Given the description of an element on the screen output the (x, y) to click on. 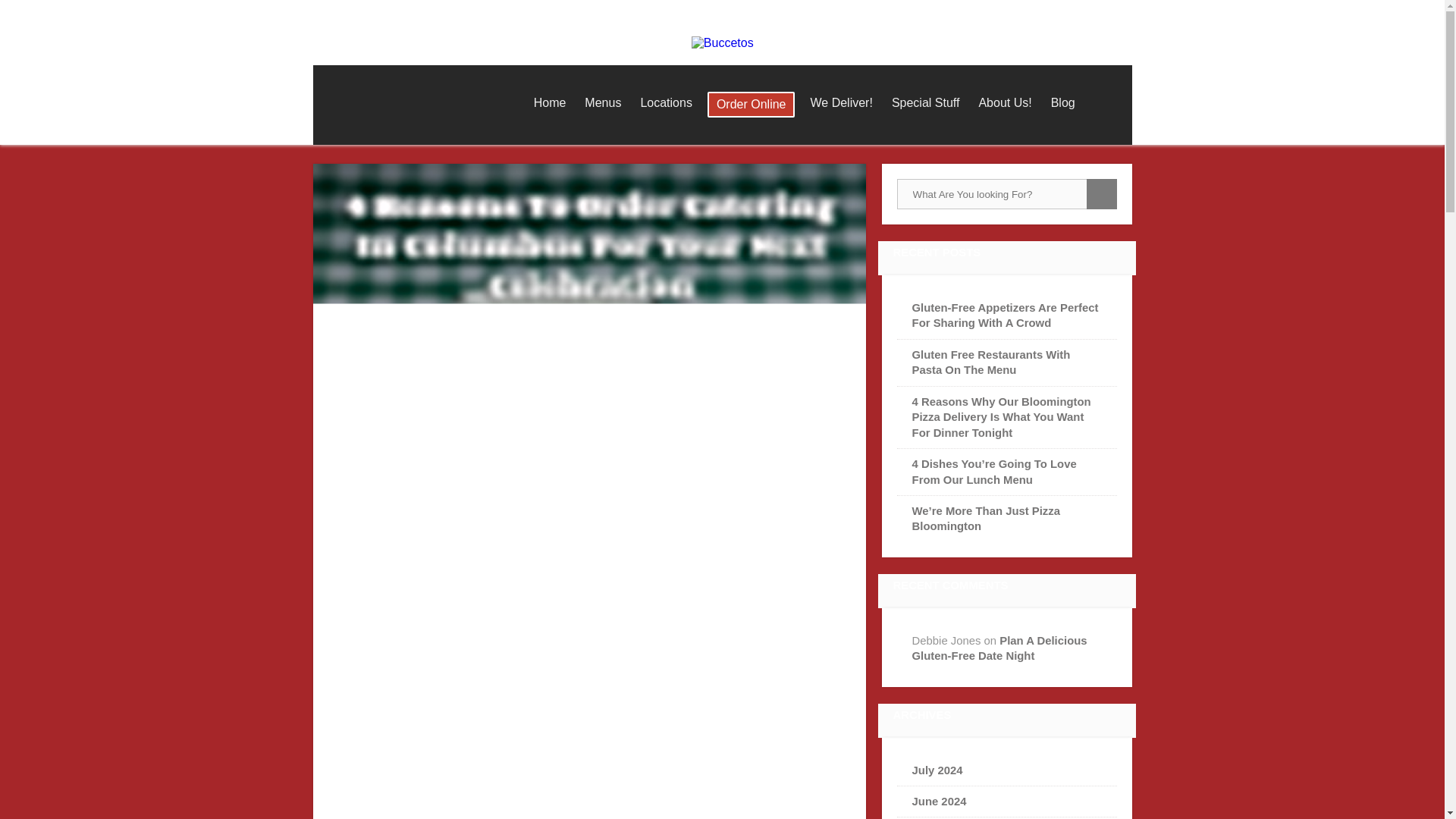
About Us! (1005, 102)
Gluten-Free Appetizers Are Perfect For Sharing With A Crowd (1005, 315)
Order Online (750, 104)
We Deliver! (840, 102)
July 2024 (937, 770)
Gluten Free Restaurants With Pasta On The Menu (991, 361)
Home (549, 102)
June 2024 (939, 801)
Locations (665, 102)
Plan A Delicious Gluten-Free Date Night (999, 647)
Blog (1063, 102)
Special Stuff (925, 102)
Menus (602, 102)
